Given the description of an element on the screen output the (x, y) to click on. 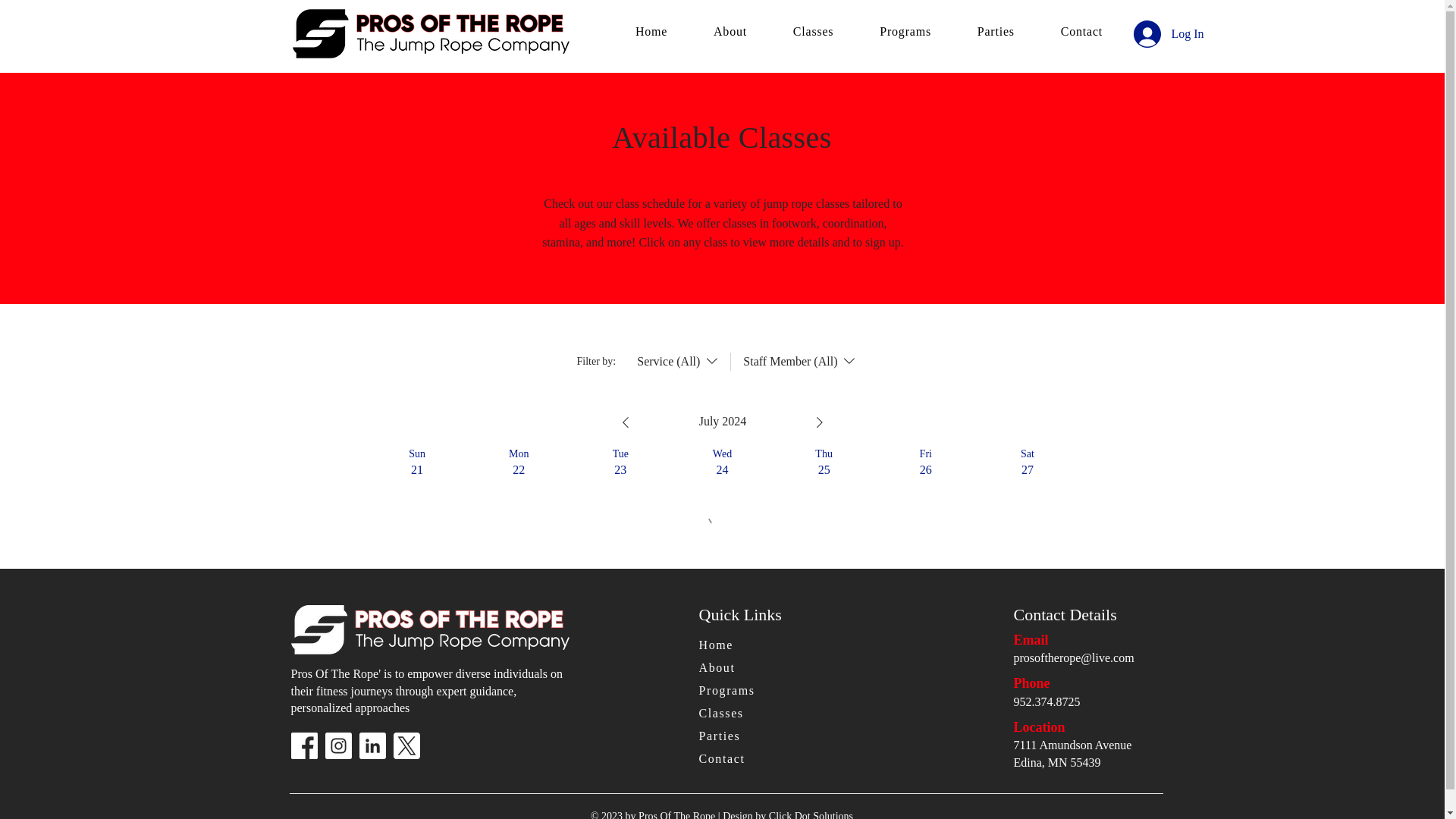
Home (651, 31)
Programs (906, 31)
About (730, 31)
About (747, 668)
Parties (994, 31)
Programs (747, 691)
Contact (1081, 31)
Contact (747, 759)
Classes (813, 31)
952.374.8725 (1046, 701)
Click Dot Solutions (810, 814)
Parties (747, 736)
Home (747, 645)
Classes (747, 713)
Log In (1144, 33)
